Given the description of an element on the screen output the (x, y) to click on. 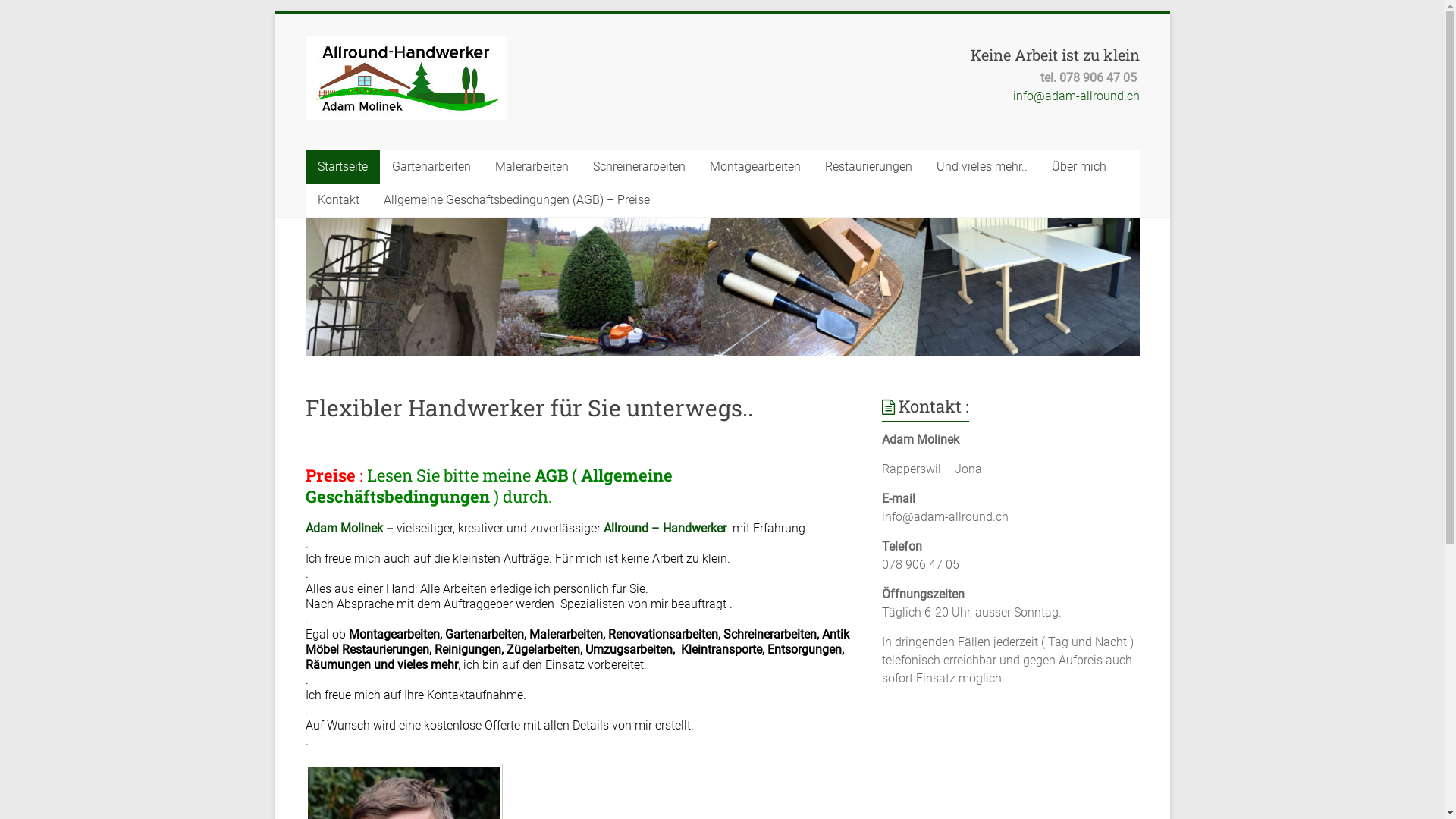
Und vieles mehr.. Element type: text (980, 166)
Adam Molinek  Element type: text (344, 527)
  Element type: text (694, 725)
Gartenarbeiten Element type: text (430, 166)
Kontakt Element type: text (337, 199)
Schreinerarbeiten Element type: text (638, 166)
Malerarbeiten Element type: text (531, 166)
Startseite Element type: text (341, 166)
Zum Inhalt springen Element type: text (274, 12)
Restaurierungen Element type: text (868, 166)
Montagearbeiten Element type: text (754, 166)
info@adam-allround.ch Element type: text (1076, 95)
